Given the description of an element on the screen output the (x, y) to click on. 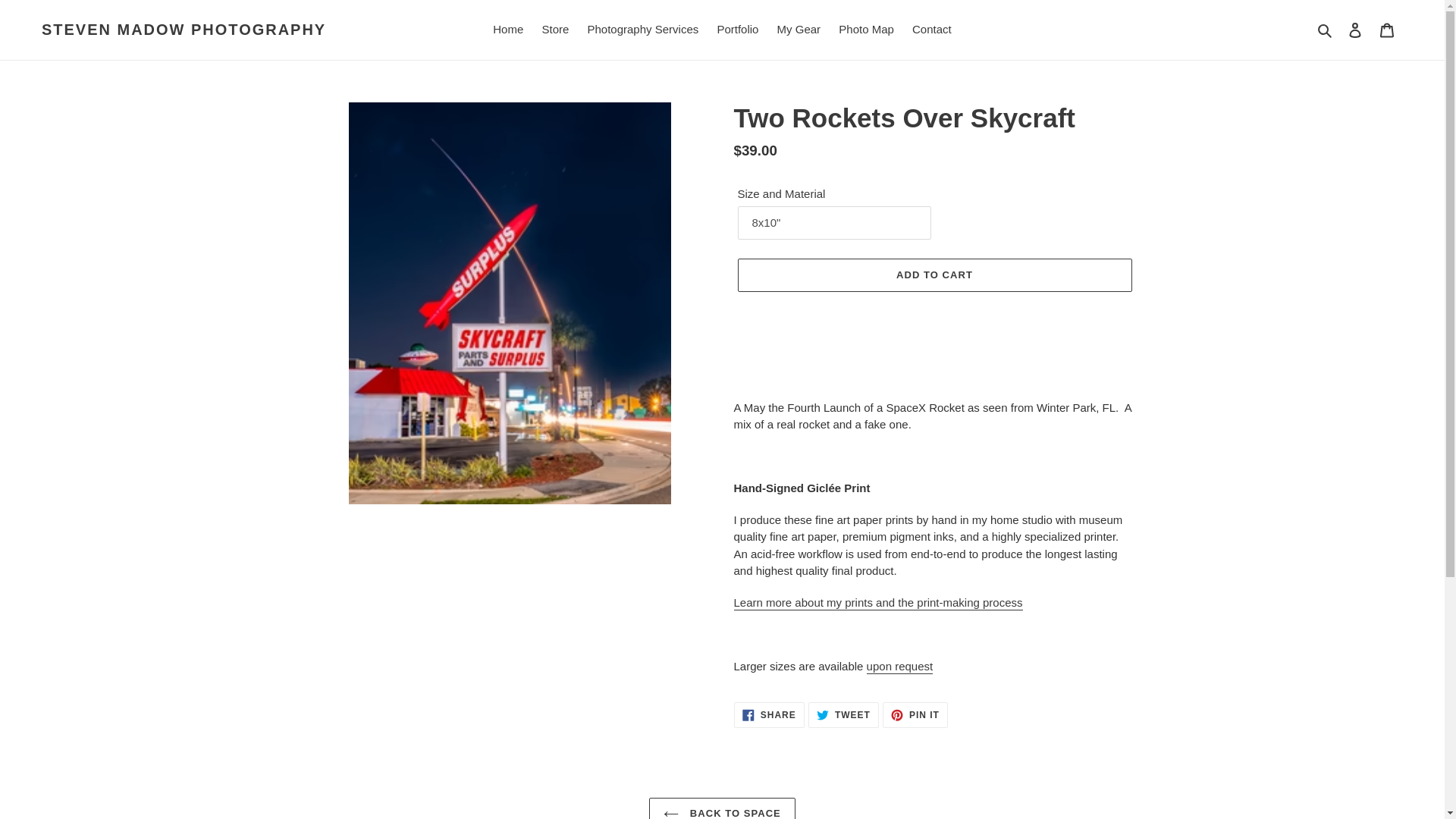
Portfolio (737, 29)
Store (555, 29)
Home (507, 29)
Search (1326, 29)
Log in (1355, 29)
Cart (1387, 29)
My Gear (799, 29)
Contact (914, 714)
